Given the description of an element on the screen output the (x, y) to click on. 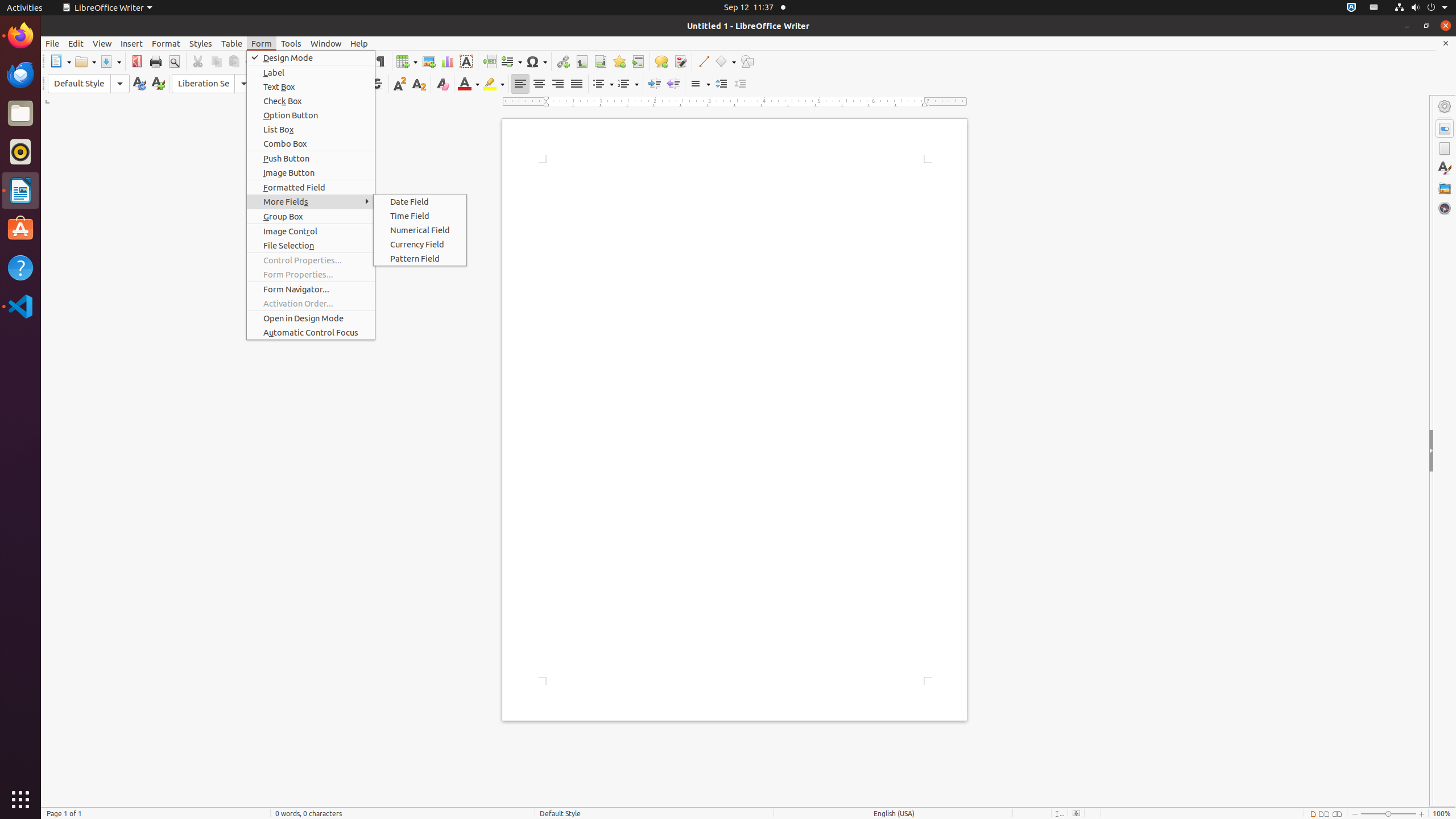
Control Properties... Element type: menu-item (310, 260)
Help Element type: menu (358, 43)
Hyperlink Element type: toggle-button (562, 61)
Properties Element type: radio-button (1444, 128)
List Box Element type: check-menu-item (310, 129)
